Given the description of an element on the screen output the (x, y) to click on. 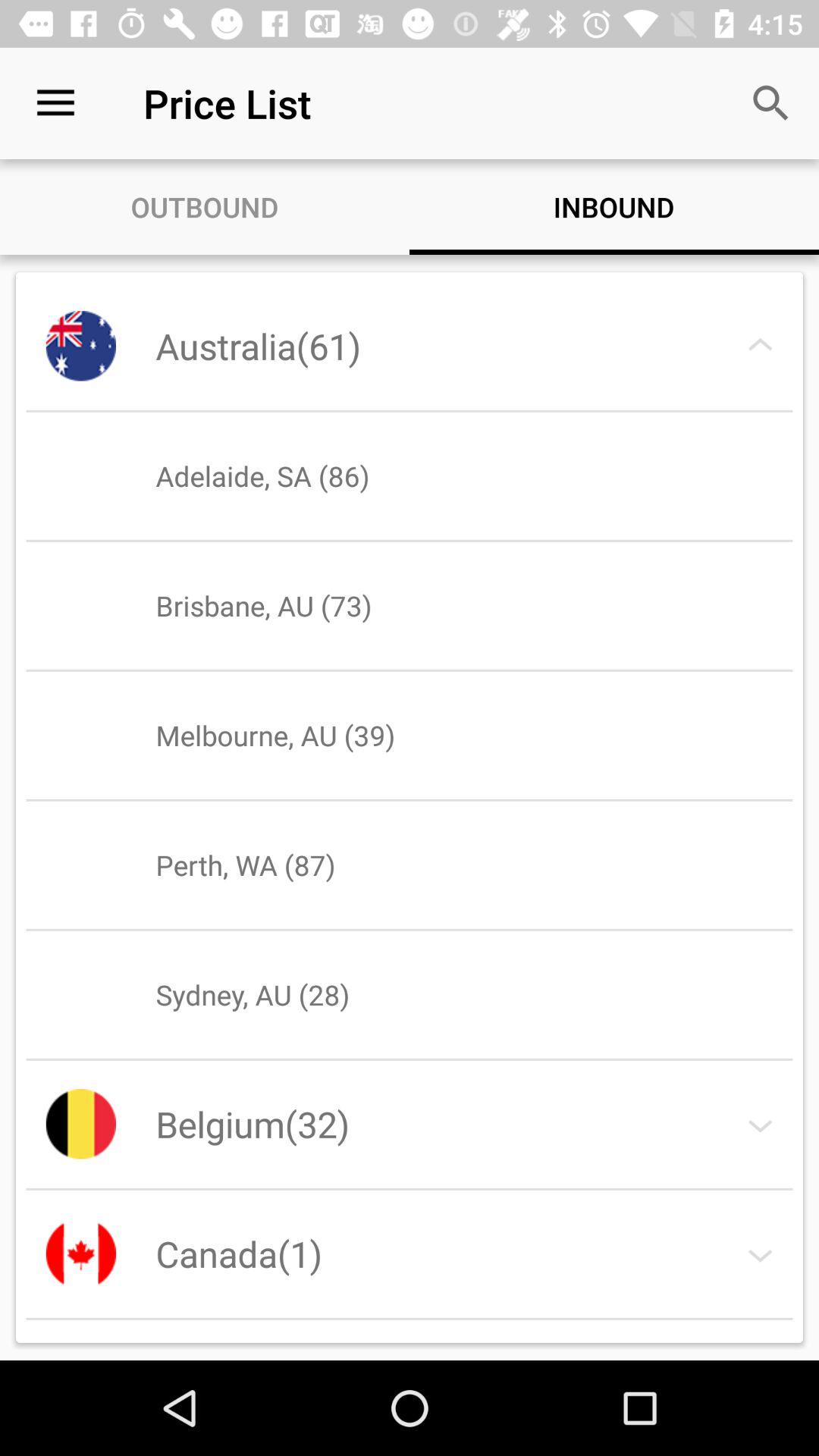
turn on icon next to the price list icon (55, 103)
